Given the description of an element on the screen output the (x, y) to click on. 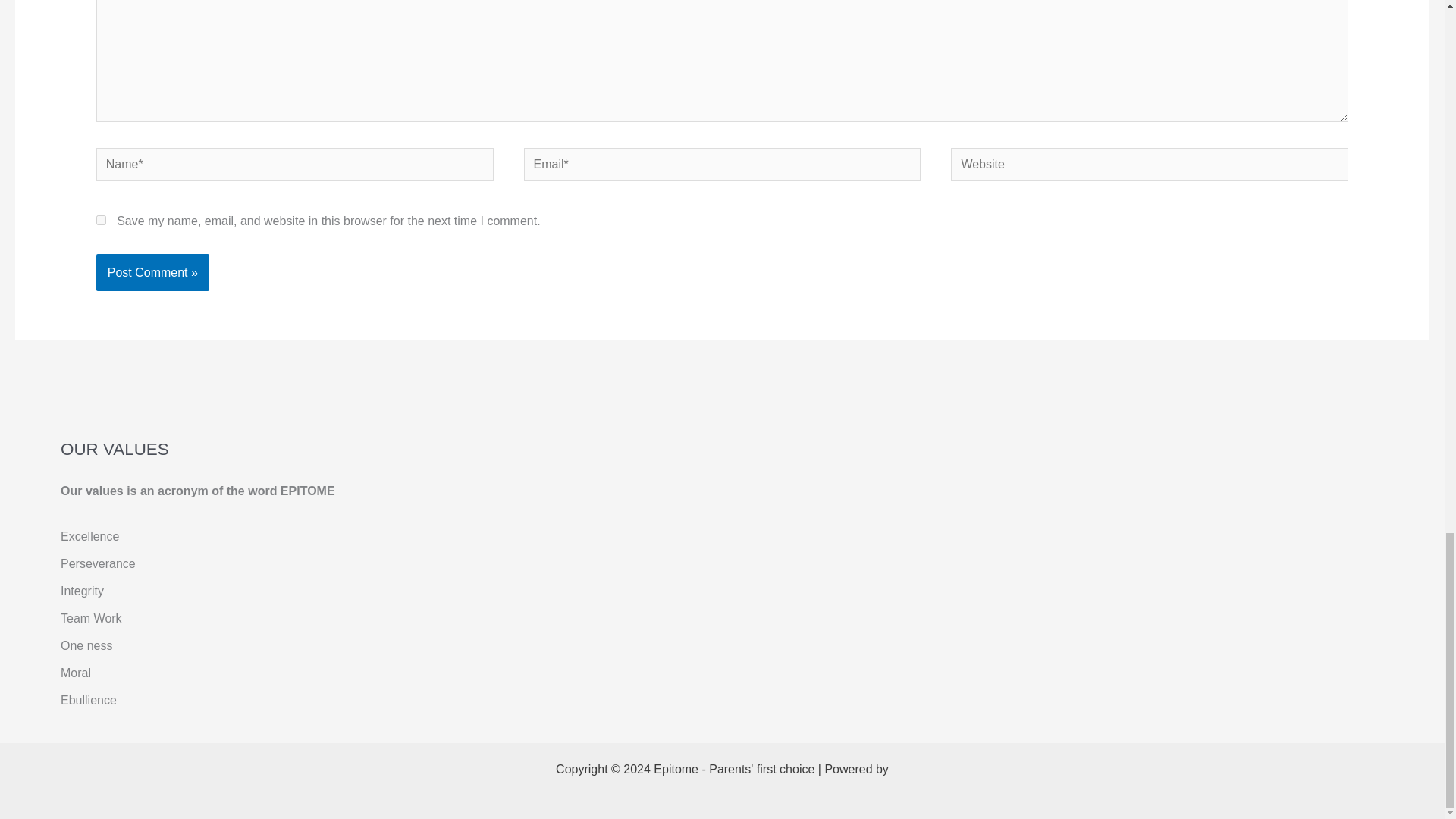
yes (101, 220)
